Given the description of an element on the screen output the (x, y) to click on. 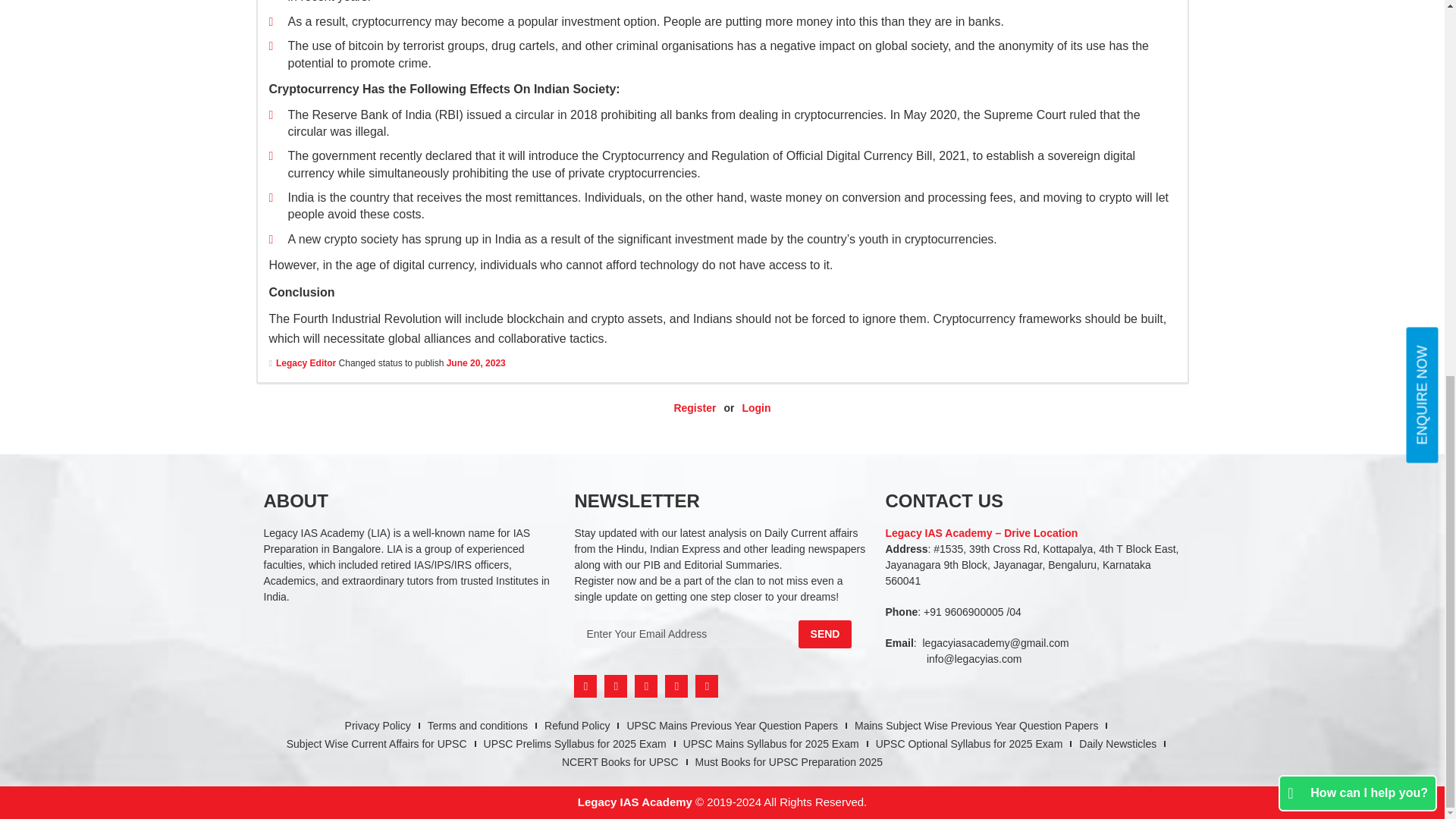
Enter Your Email Address (685, 633)
Send (824, 633)
